Given the description of an element on the screen output the (x, y) to click on. 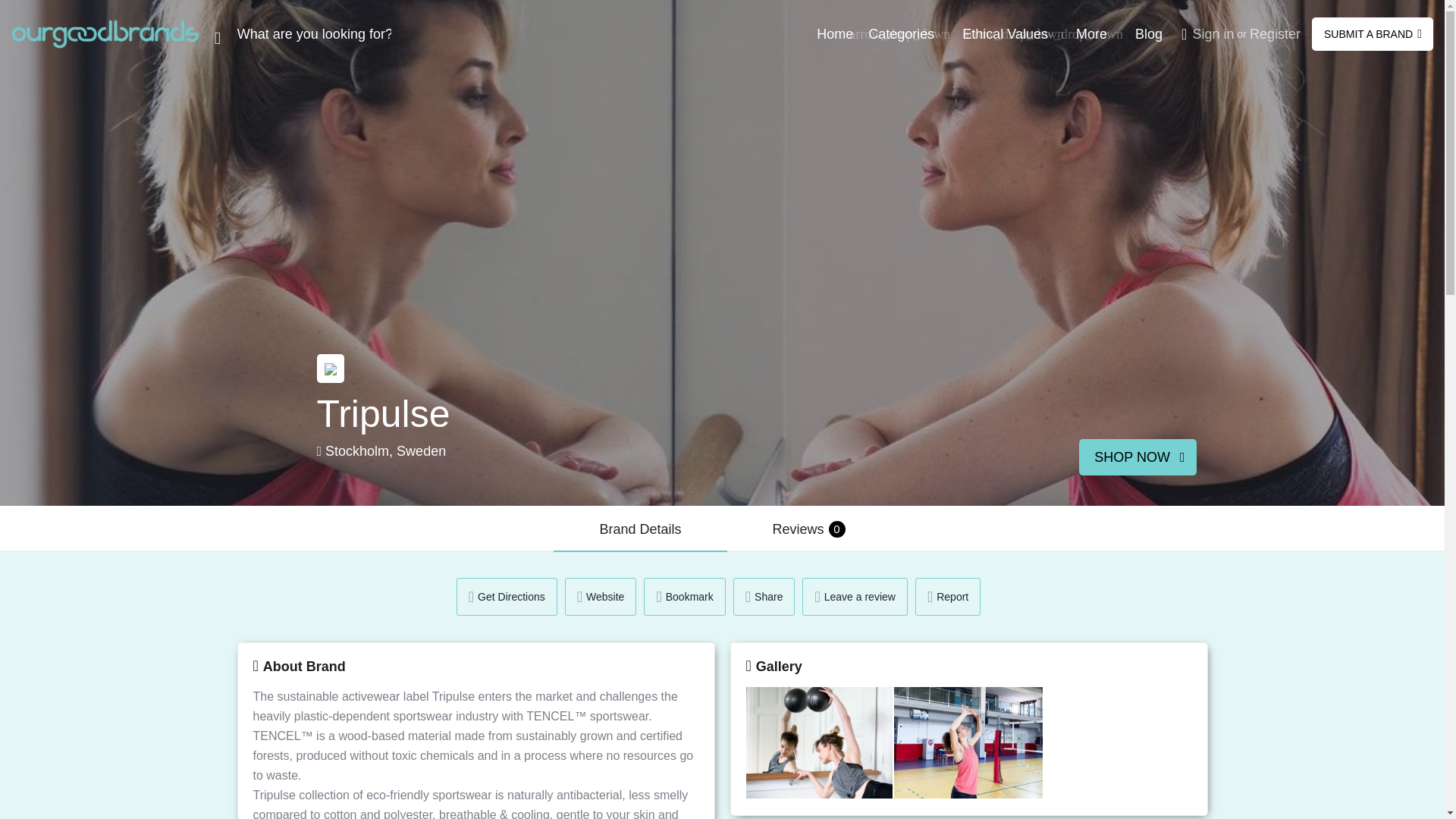
More (1090, 33)
Home (834, 33)
Categories (900, 33)
Ethical Values (1005, 33)
